Given the description of an element on the screen output the (x, y) to click on. 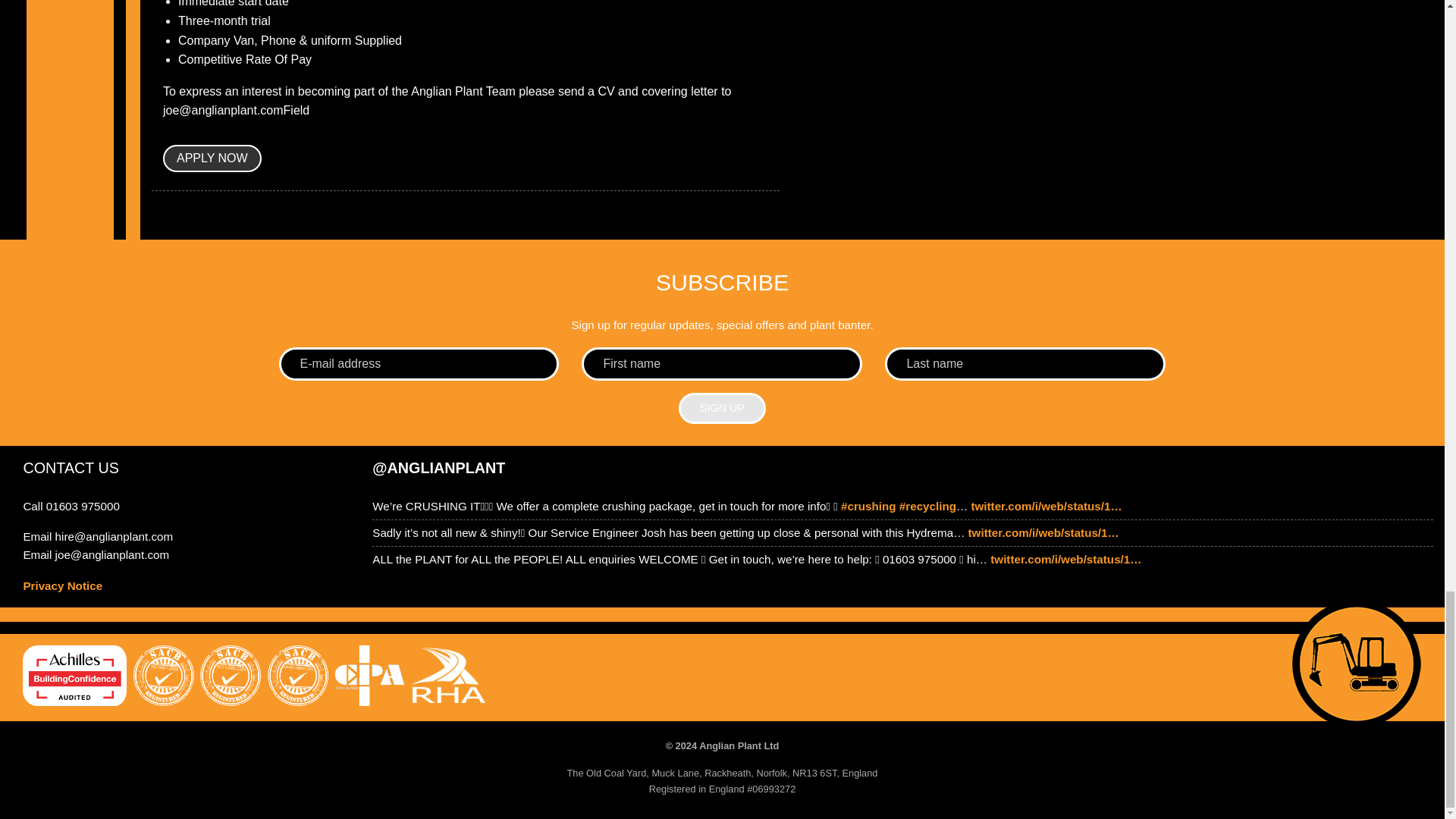
Sign up (721, 408)
